Given the description of an element on the screen output the (x, y) to click on. 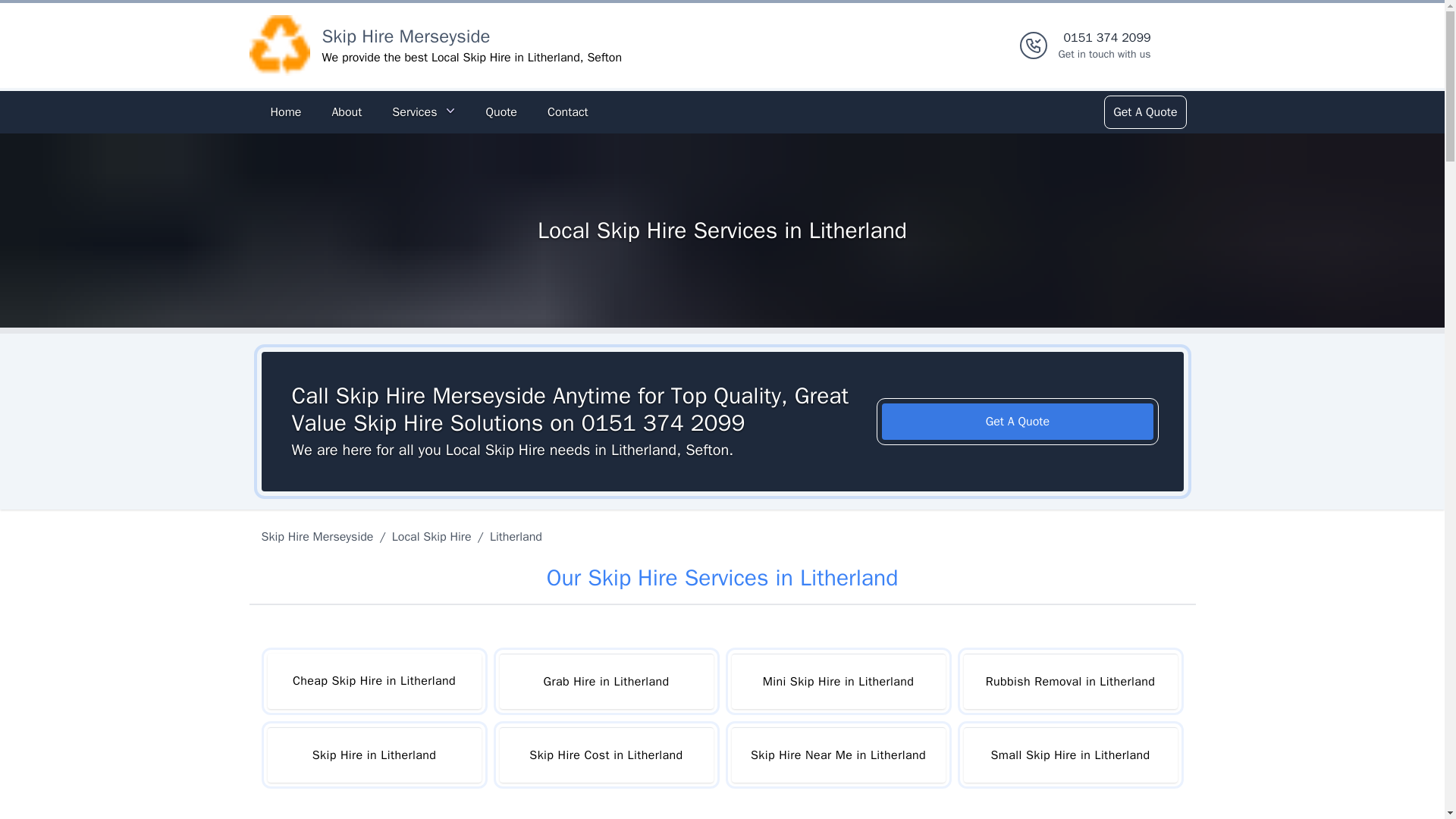
About (346, 112)
Small Skip Hire in Litherland (1069, 754)
Cheap Skip Hire in Litherland (373, 681)
Rubbish Removal in Litherland (1069, 681)
Skip Hire Near Me in Litherland (837, 754)
Quote (500, 112)
Grab Hire in Litherland (606, 681)
Services (423, 112)
Local Skip Hire (431, 536)
Skip Hire in Litherland (1104, 45)
Skip Hire Merseyside (373, 754)
Contact (319, 536)
Skip Hire Merseyside (567, 112)
Logo (405, 36)
